Given the description of an element on the screen output the (x, y) to click on. 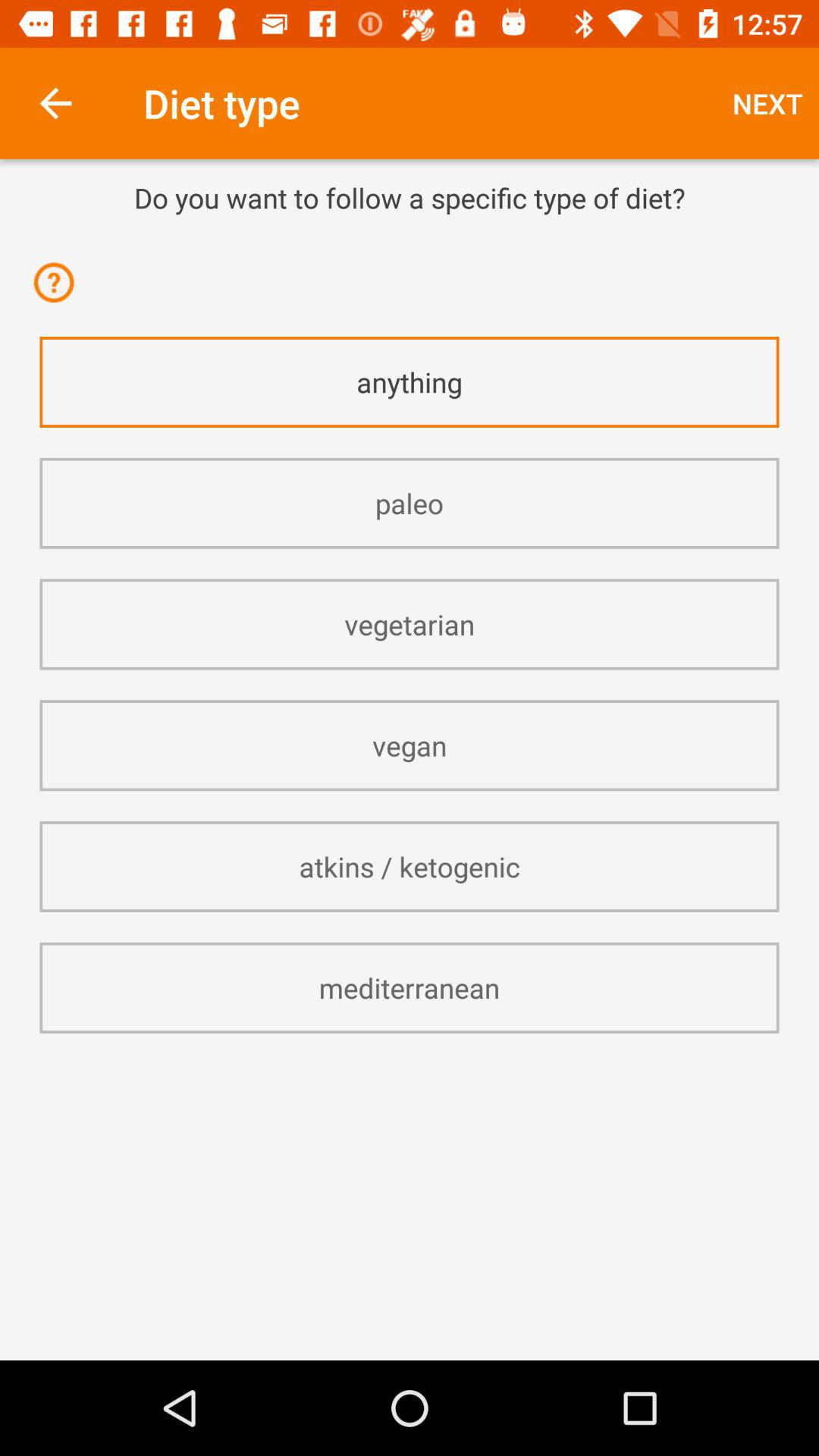
jump until the vegan (409, 745)
